Given the description of an element on the screen output the (x, y) to click on. 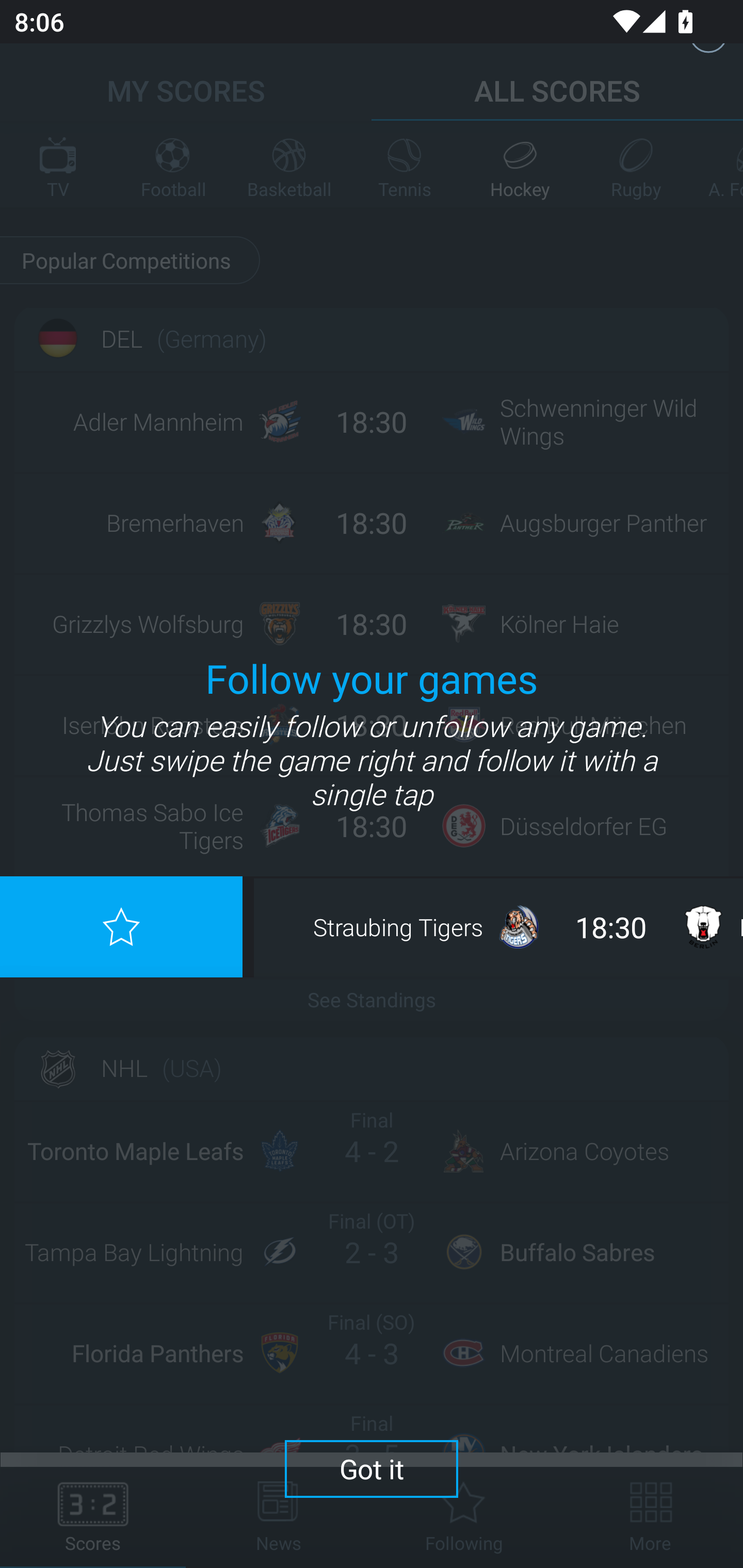
Straubing Tigers 18:30 Eisbären Berlin (502, 926)
Got it (371, 1468)
